Given the description of an element on the screen output the (x, y) to click on. 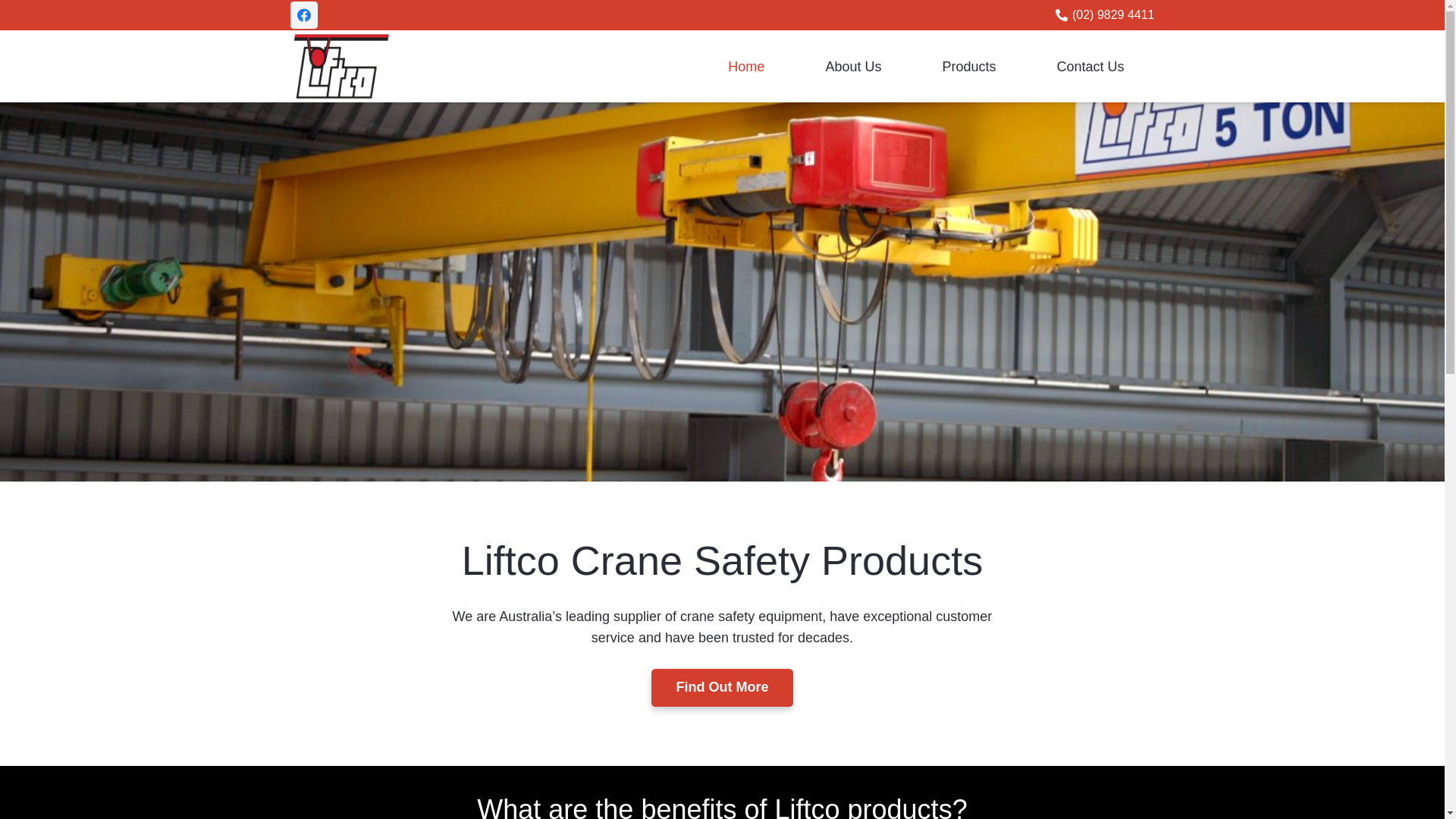
Find Out More Element type: text (722, 687)
Contact Us Element type: text (1090, 65)
Products Element type: text (968, 65)
(02) 9829 4411 Element type: text (1104, 14)
About Us Element type: text (852, 65)
Facebook Element type: hover (302, 14)
Home Element type: text (745, 65)
